Given the description of an element on the screen output the (x, y) to click on. 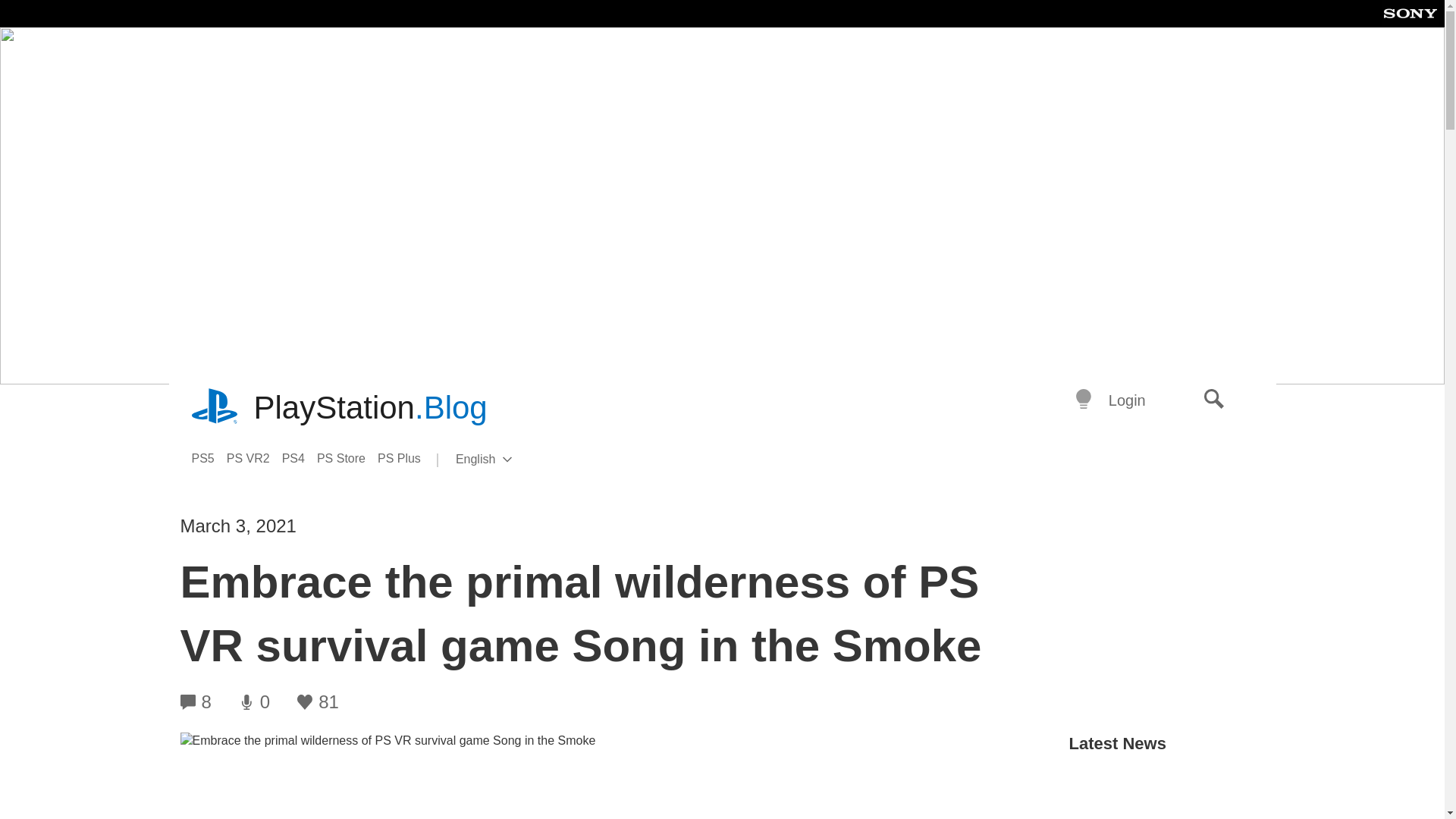
PS4 (299, 458)
Login (1126, 400)
Search (1214, 400)
PS Plus (404, 458)
playstation.com (215, 408)
PS5 (207, 458)
PlayStation.Blog (369, 407)
PS VR2 (254, 458)
PS Store (508, 459)
